Given the description of an element on the screen output the (x, y) to click on. 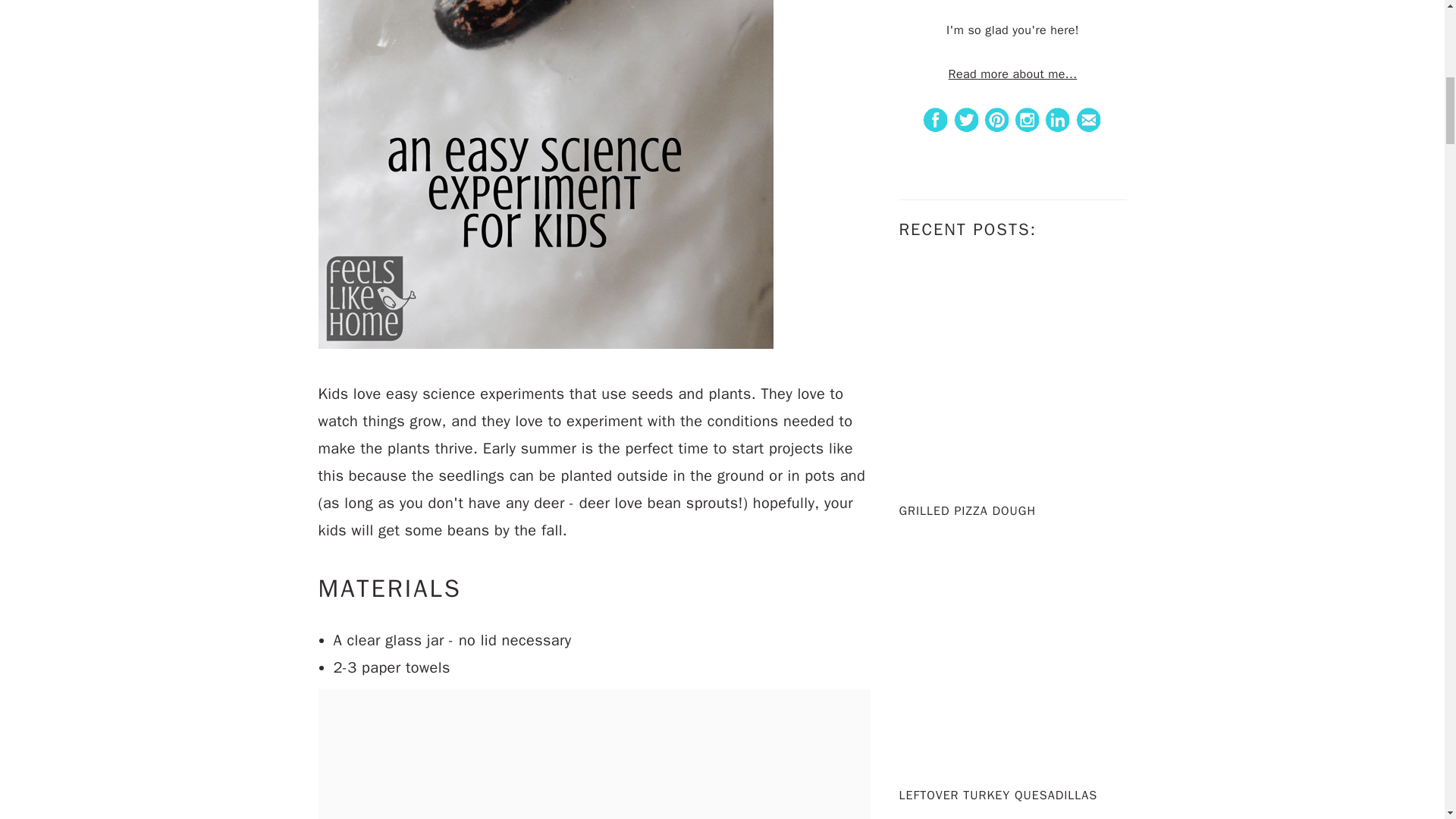
Grilled Pizza Dough (1012, 476)
Leftover Turkey Quesadillas (1012, 761)
